Given the description of an element on the screen output the (x, y) to click on. 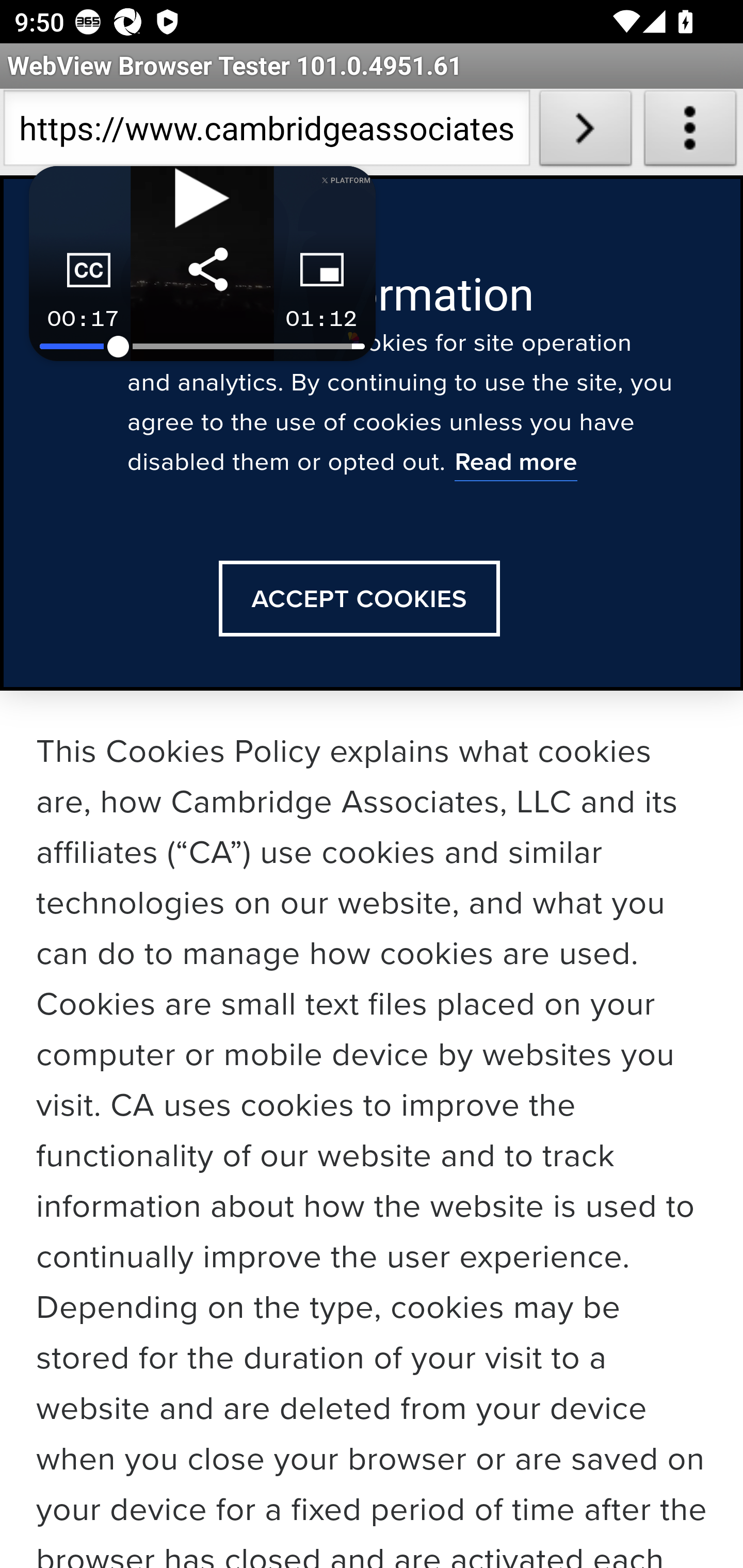
Load URL (585, 132)
About WebView (690, 132)
Read more (515, 464)
ACCEPT COOKIES (359, 598)
